Given the description of an element on the screen output the (x, y) to click on. 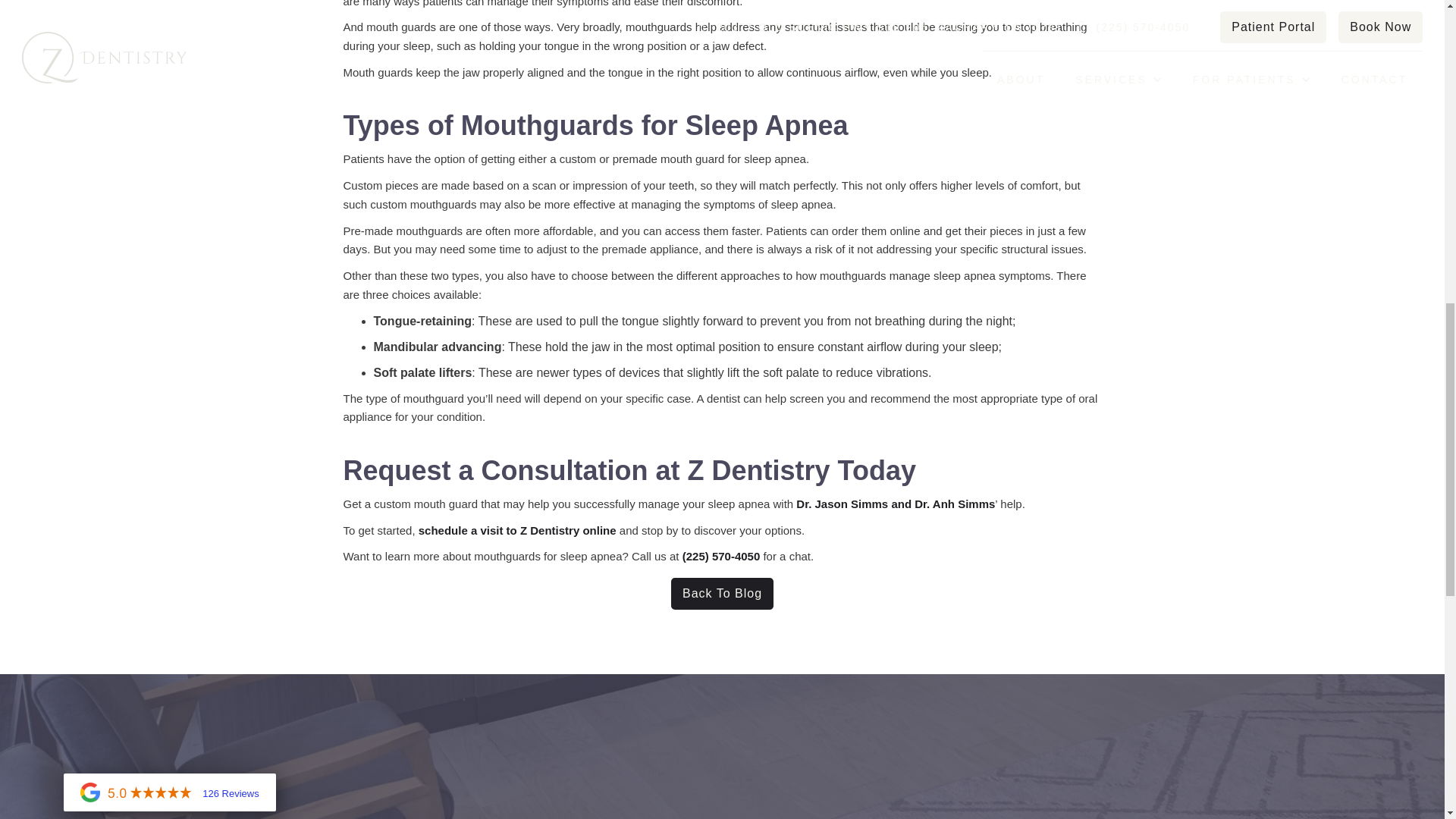
Dr. Jason Simms and Dr. Anh Simms (895, 503)
schedule a visit to Z Dentistry online (517, 529)
